Given the description of an element on the screen output the (x, y) to click on. 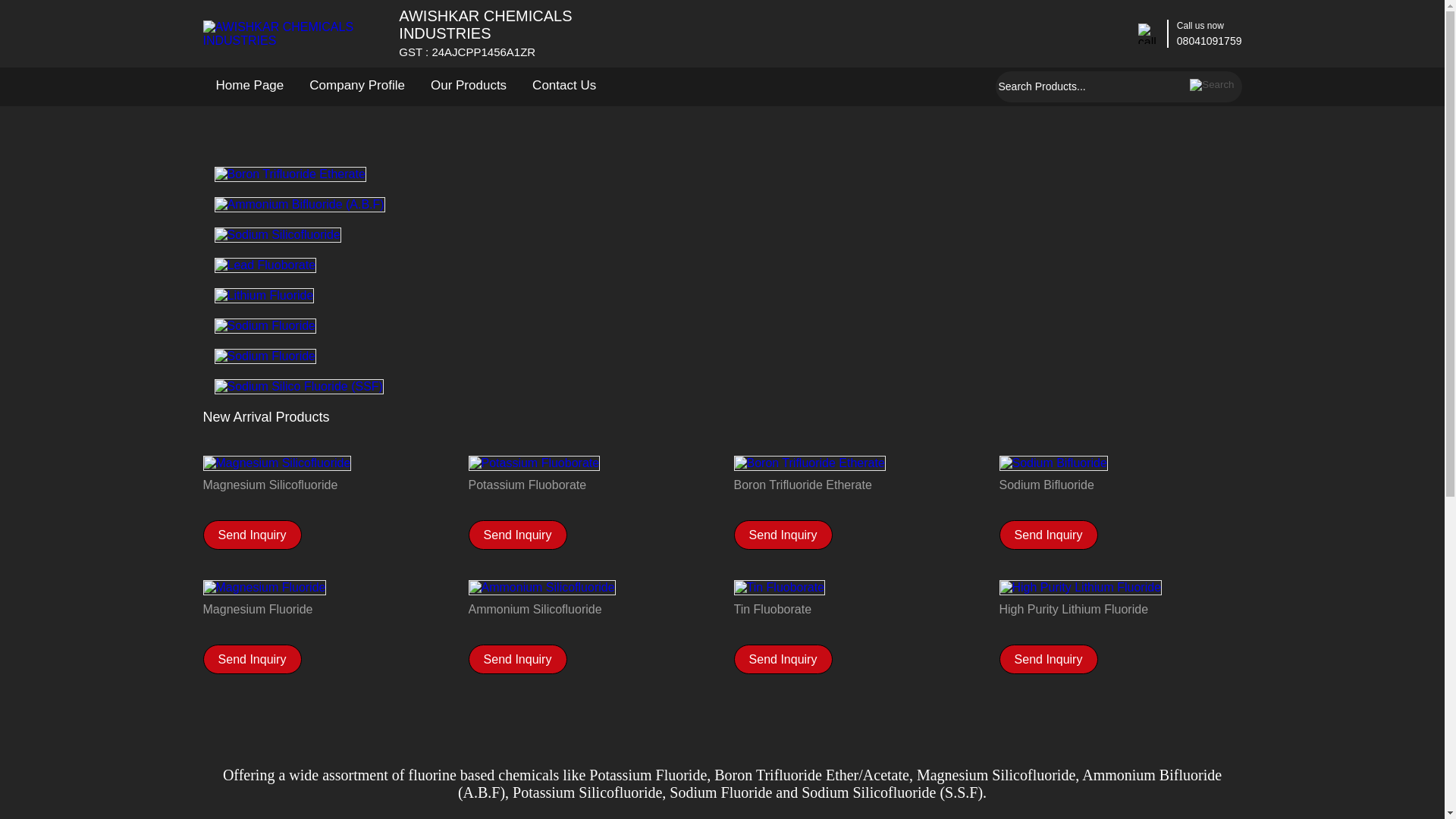
Our Products (468, 85)
Company Profile (357, 85)
Search (1211, 85)
Magnesium Silicofluoride (324, 485)
Potassium Fluoborate (589, 485)
Home Page (250, 85)
Contact Us (563, 85)
submit (1211, 85)
Send Inquiry (782, 534)
Search Products... (1089, 86)
